Given the description of an element on the screen output the (x, y) to click on. 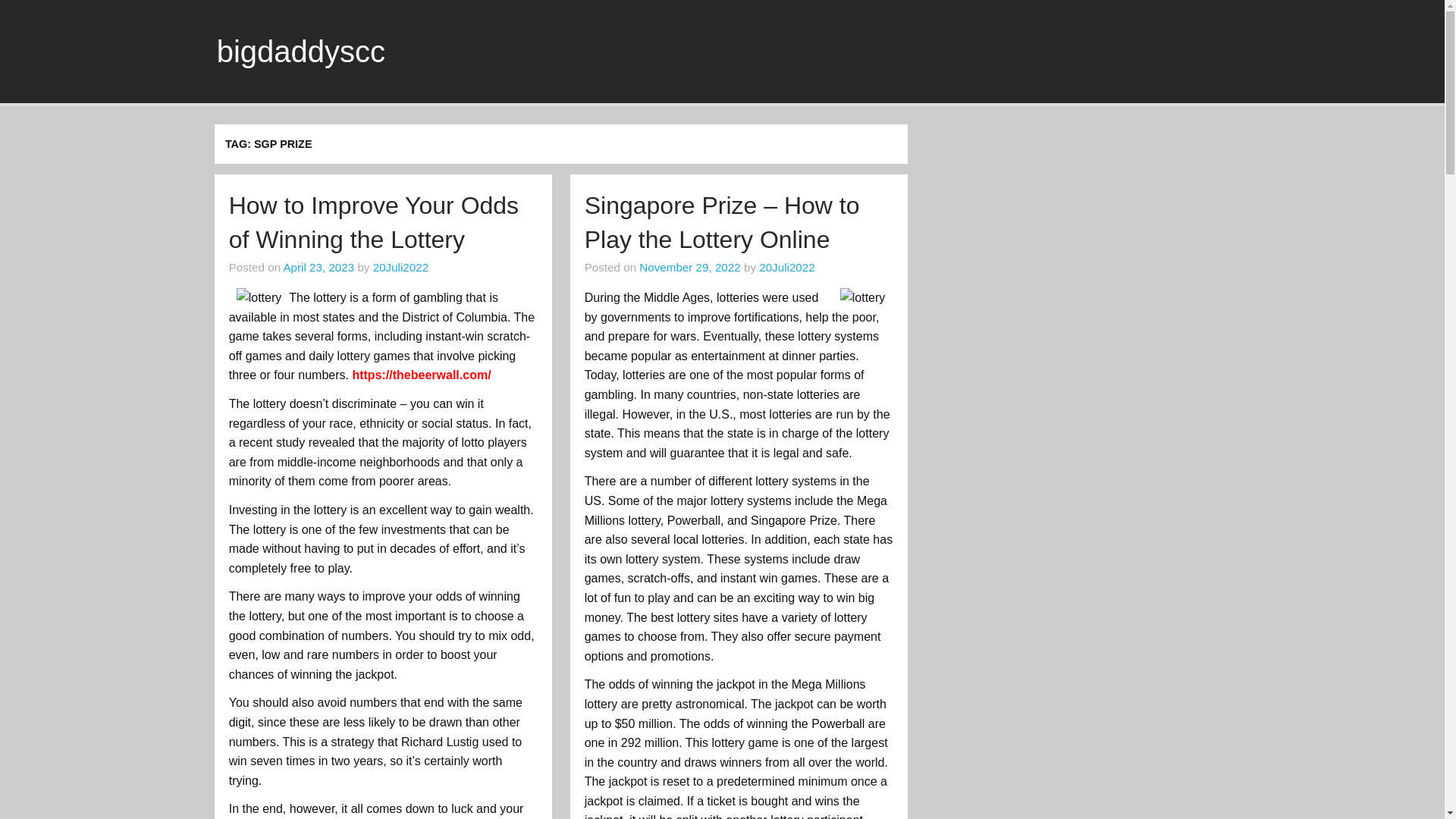
November 29, 2022 (689, 267)
5:44 pm (317, 267)
April 23, 2023 (317, 267)
View all posts by 20Juli2022 (785, 267)
How to Improve Your Odds of Winning the Lottery (373, 222)
20Juli2022 (400, 267)
20Juli2022 (785, 267)
2:28 pm (689, 267)
View all posts by 20Juli2022 (400, 267)
bigdaddyscc (300, 51)
